Given the description of an element on the screen output the (x, y) to click on. 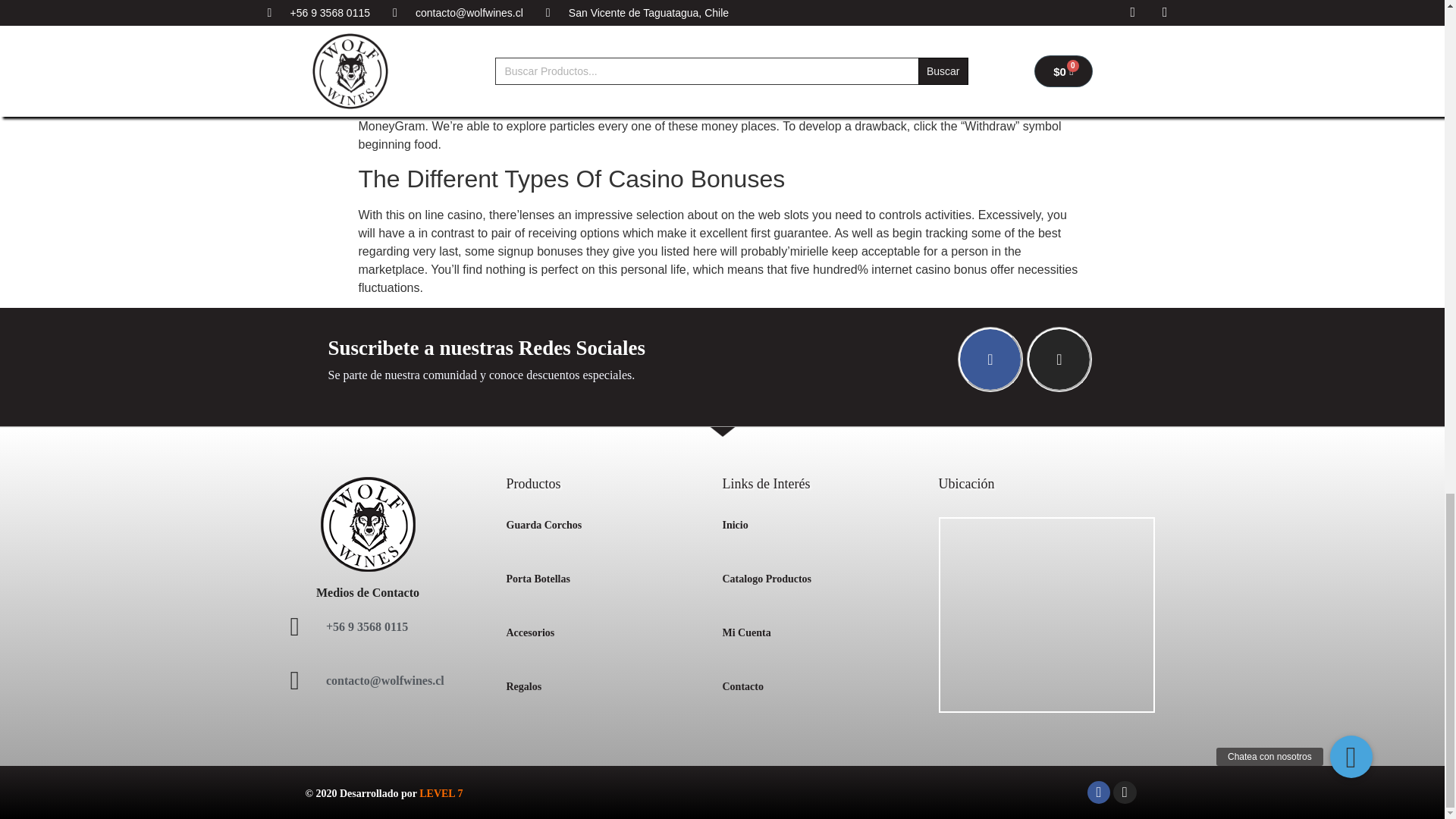
San Vicente, Chile (1046, 614)
